Given the description of an element on the screen output the (x, y) to click on. 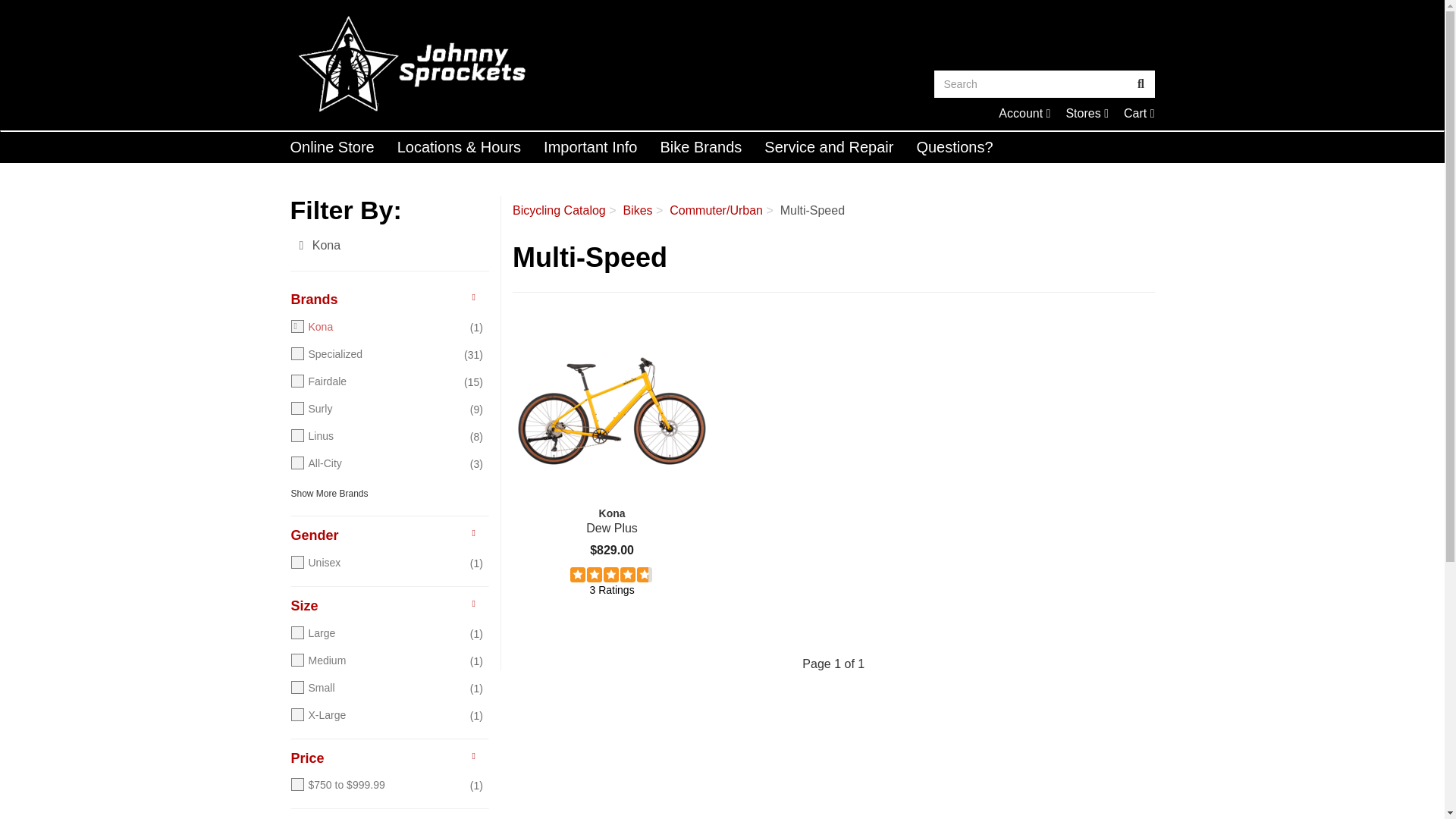
Stores (1086, 113)
Important Info (589, 146)
Search (1140, 83)
Johnny Sprockets Home Page (499, 63)
Search (1031, 83)
Service and Repair (828, 146)
Bike Brands (1023, 113)
Cart (701, 146)
Questions? (1139, 113)
Kona Dew Plus (954, 146)
Kona Dew Plus (611, 411)
Online Store (1139, 113)
